Given the description of an element on the screen output the (x, y) to click on. 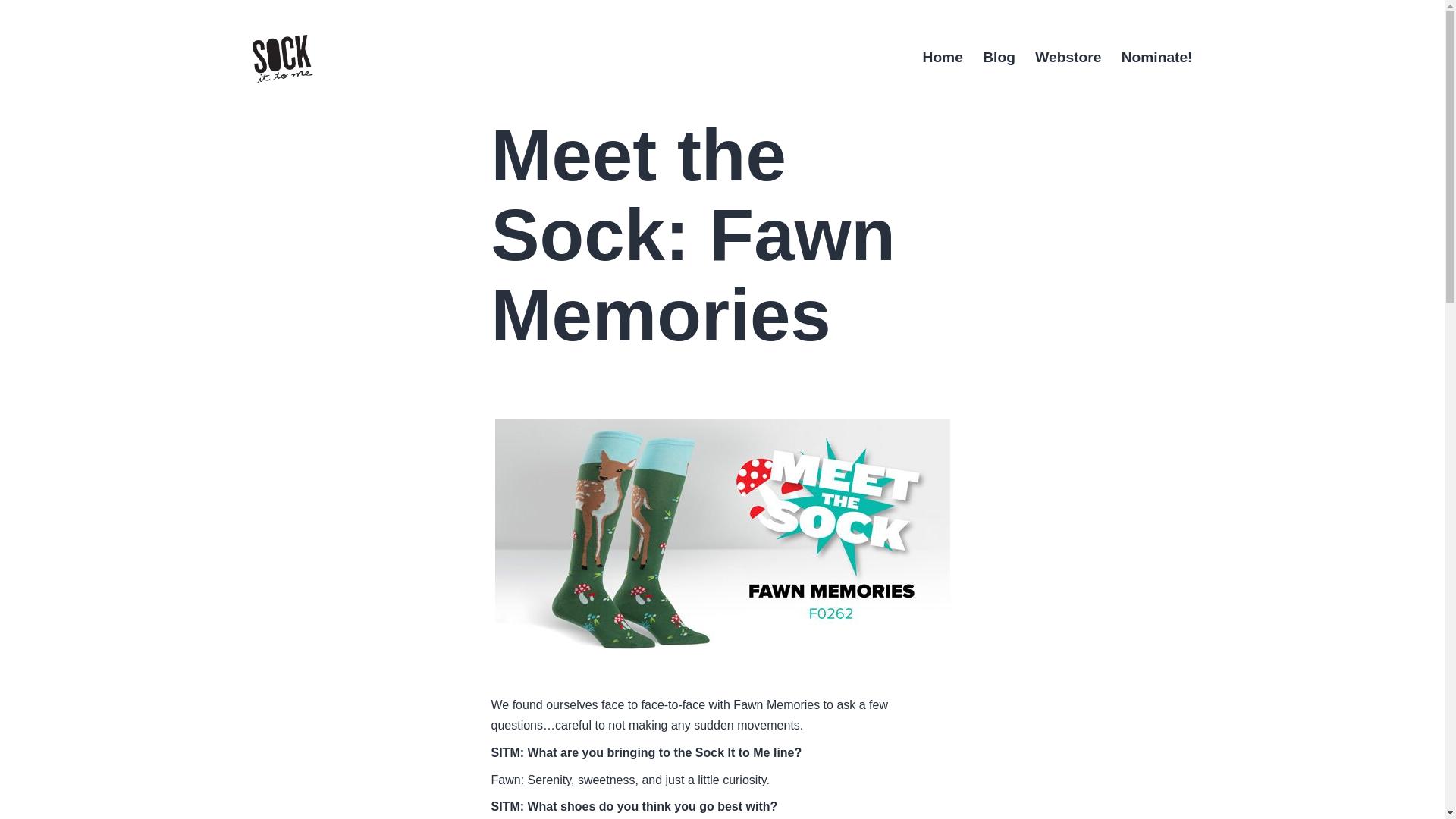
Nominate! (1157, 57)
Home (942, 57)
Webstore (1067, 57)
Blog (998, 57)
